Given the description of an element on the screen output the (x, y) to click on. 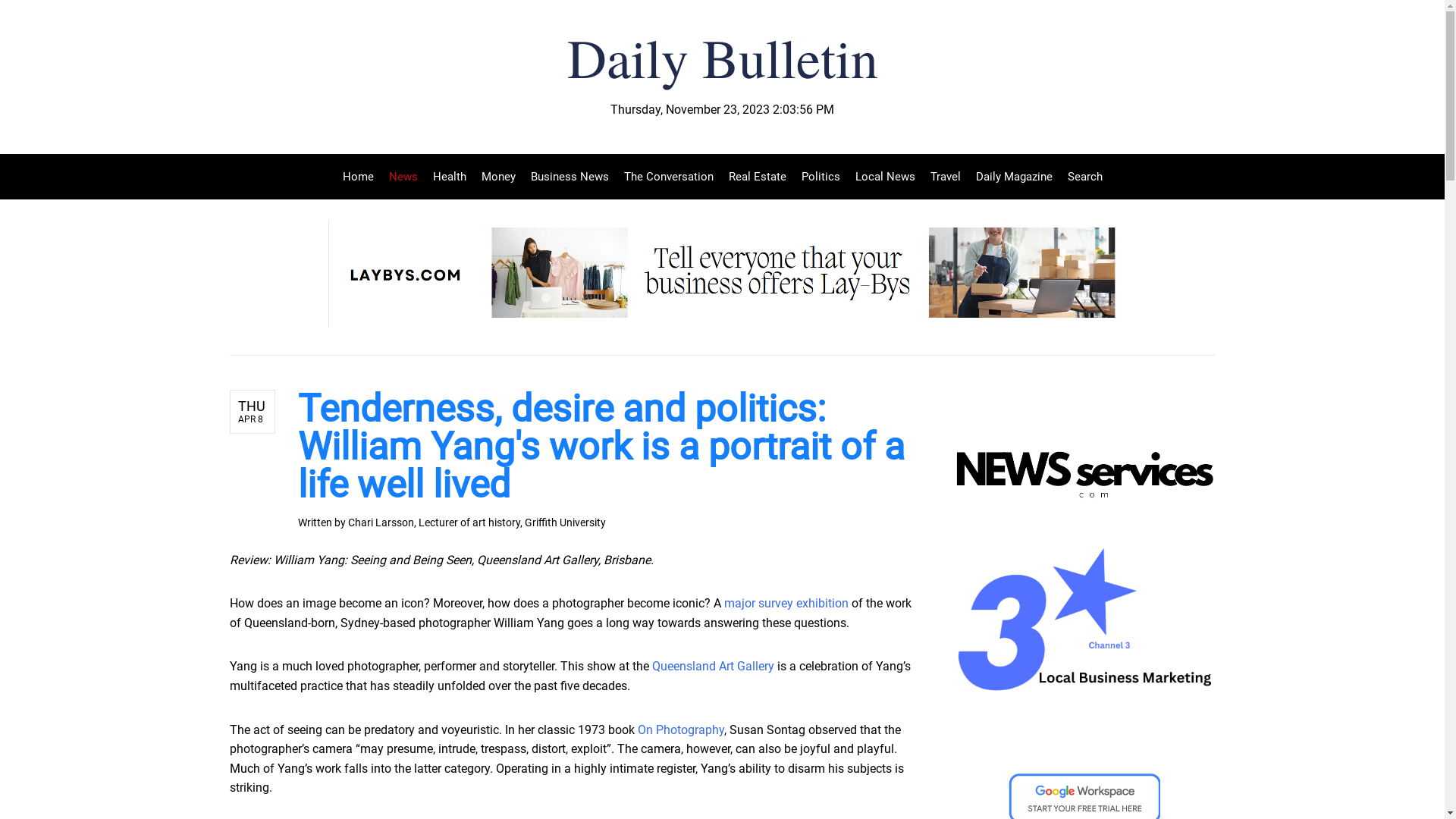
Travel Element type: text (944, 176)
Local News Element type: text (884, 176)
Business News Element type: text (569, 176)
Queensland Art Gallery Element type: text (713, 665)
Real Estate Element type: text (756, 176)
Home Element type: text (361, 176)
Politics Element type: text (820, 176)
On Photography Element type: text (680, 729)
Health Element type: text (448, 176)
News Element type: text (402, 176)
The Conversation Element type: text (667, 176)
major survey exhibition Element type: text (785, 603)
Money Element type: text (497, 176)
Search Element type: text (1081, 176)
Daily Magazine Element type: text (1013, 176)
